Given the description of an element on the screen output the (x, y) to click on. 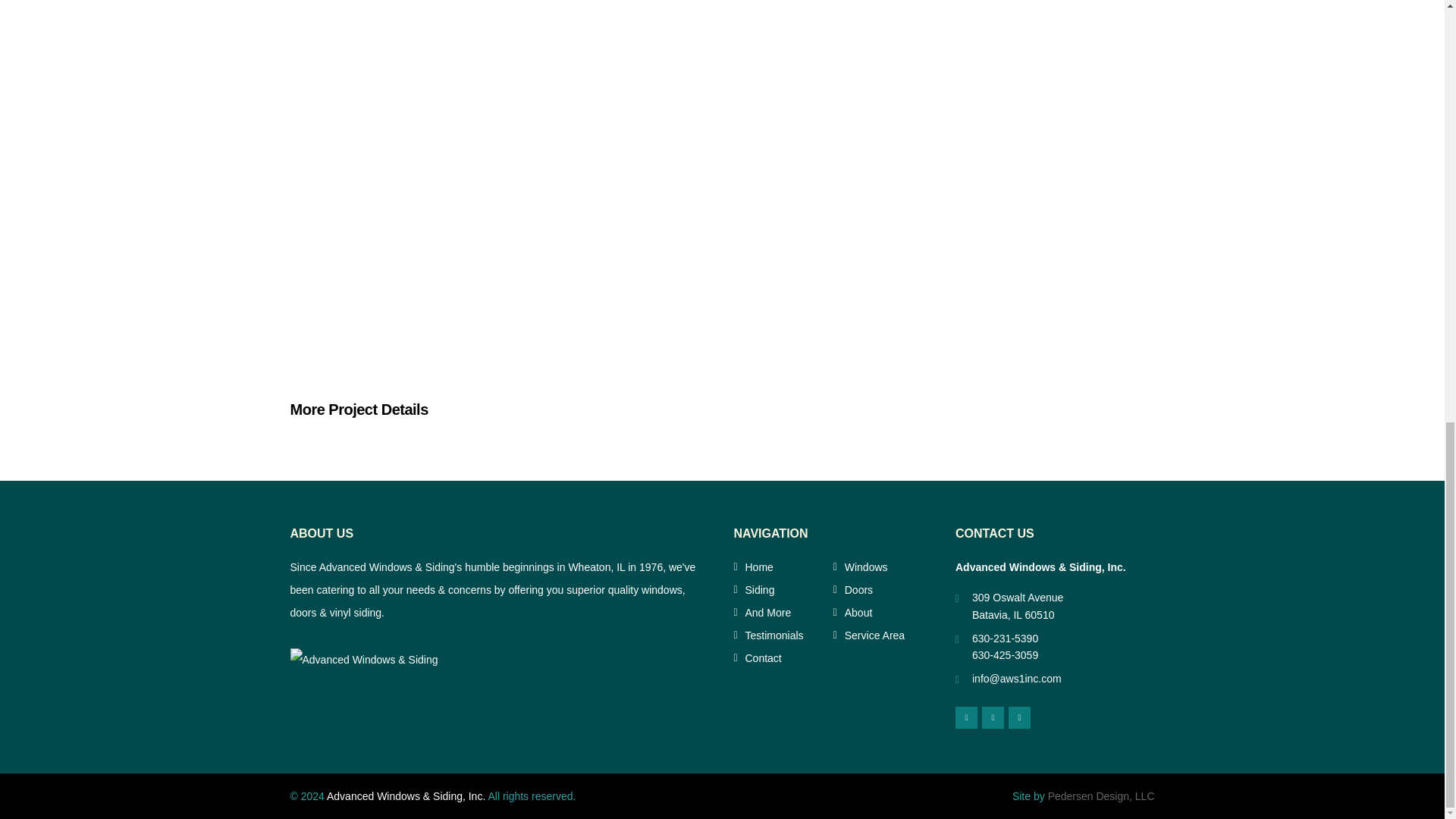
Instagram (1019, 717)
Facebook (965, 717)
LinkedIn (992, 717)
